Given the description of an element on the screen output the (x, y) to click on. 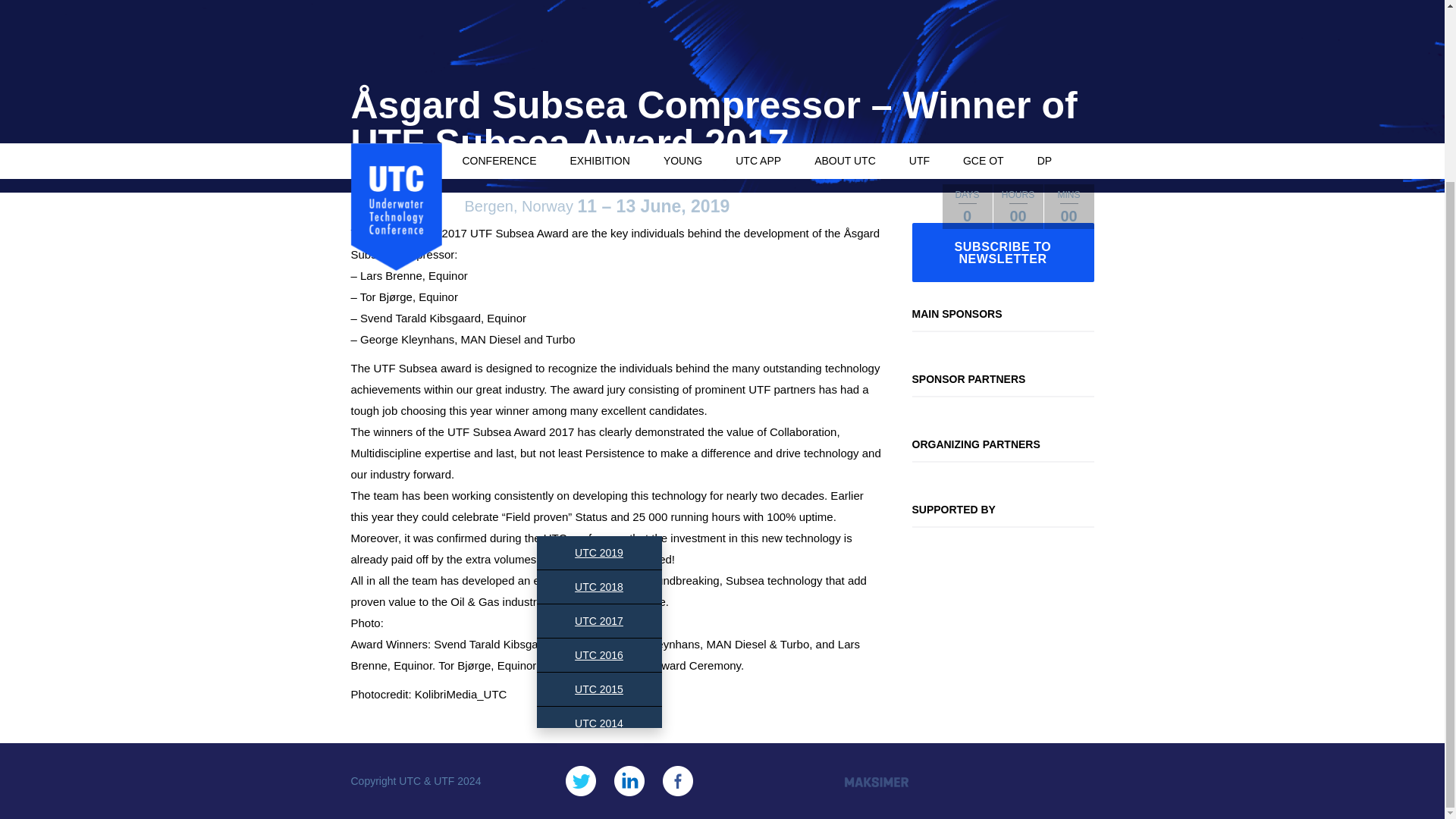
UTC 2019 (599, 552)
UTC 2017 (599, 621)
UTC 2015 (599, 688)
UTC 2014 (599, 723)
UTC 2016 (599, 654)
UTC 2018 (599, 586)
SUBSCRIBE TO NEWSLETTER (1002, 251)
